Given the description of an element on the screen output the (x, y) to click on. 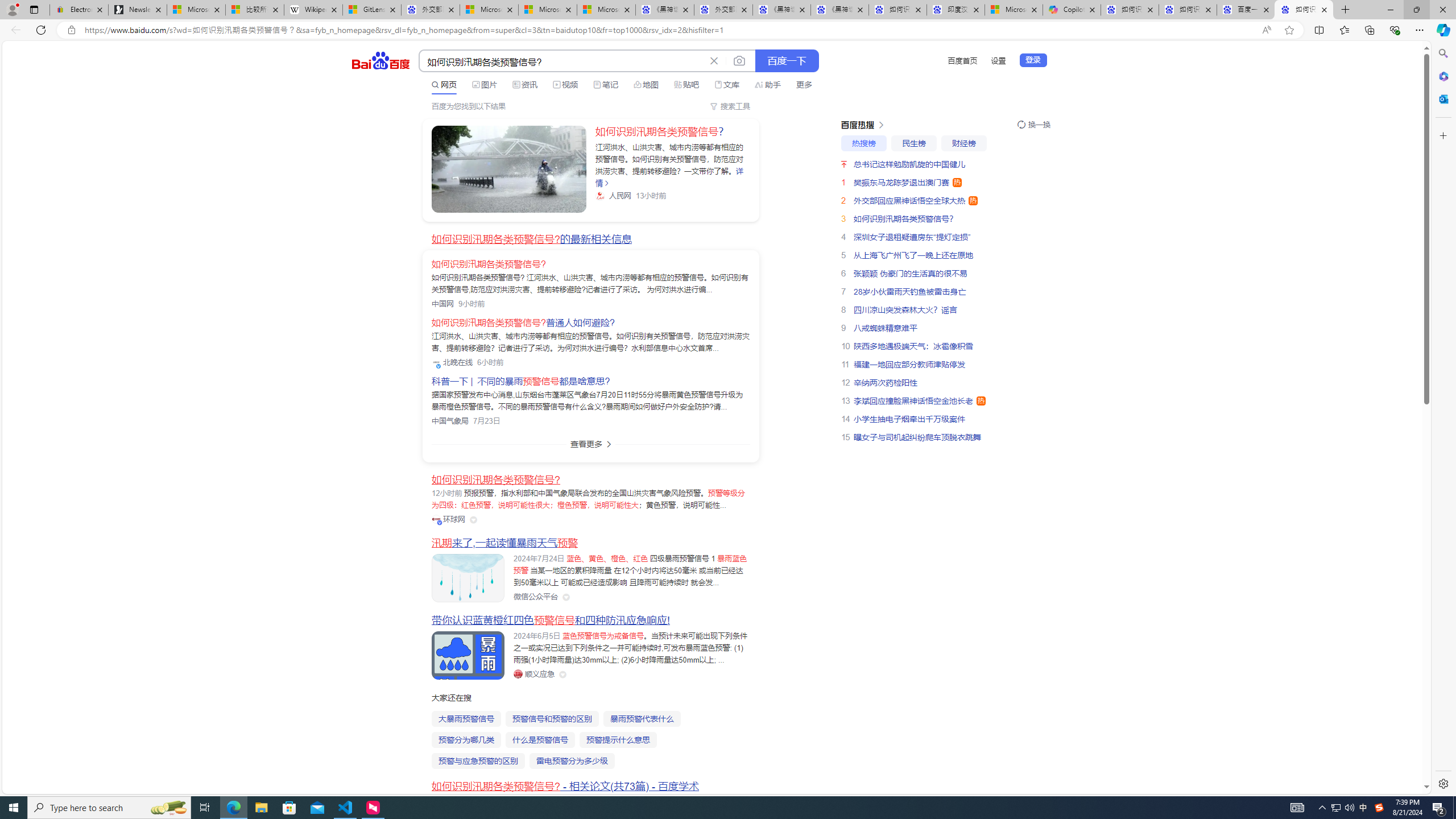
Class: siteLink_9TPP3 (533, 673)
